Given the description of an element on the screen output the (x, y) to click on. 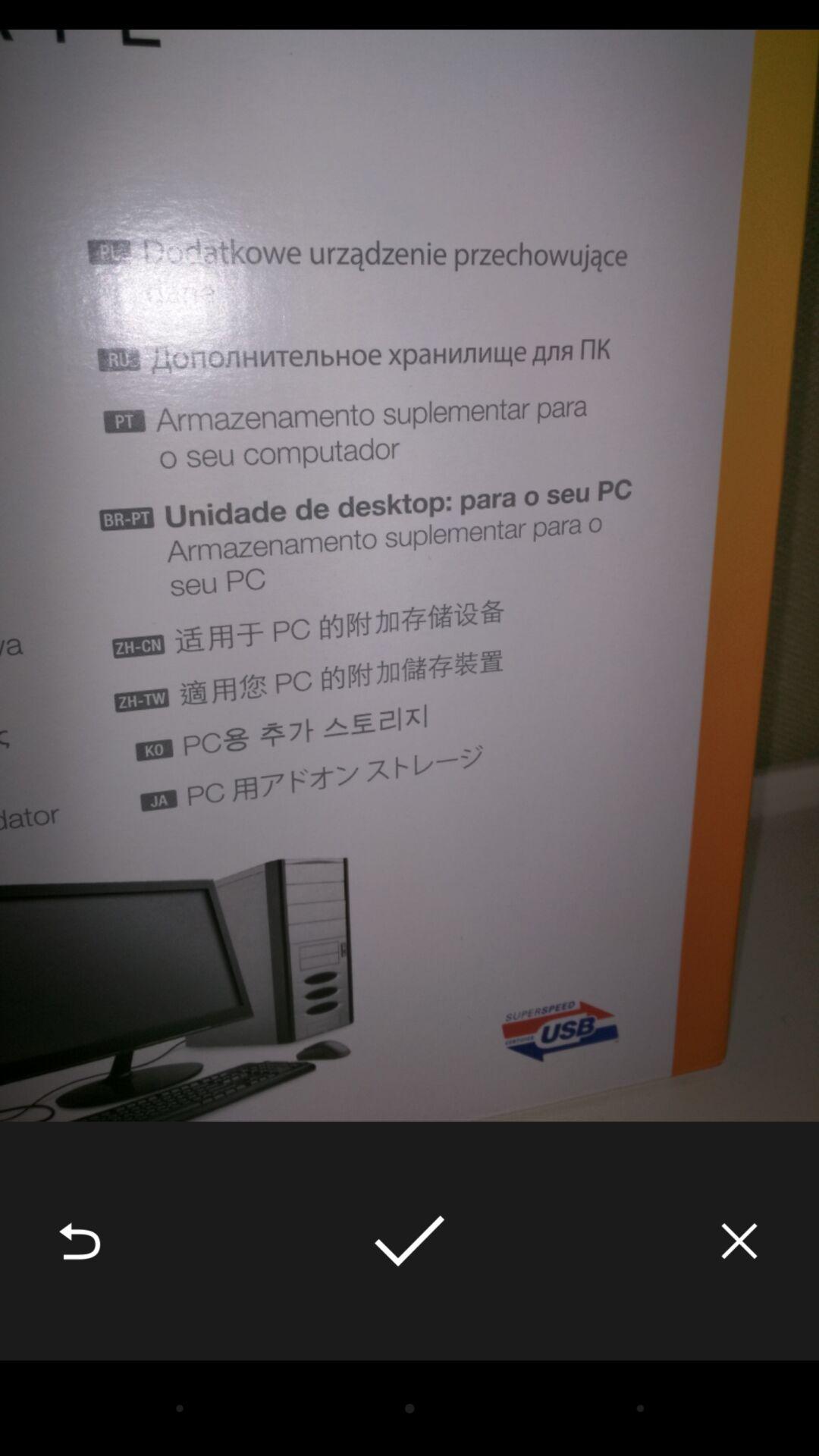
launch the icon at the bottom right corner (739, 1240)
